Given the description of an element on the screen output the (x, y) to click on. 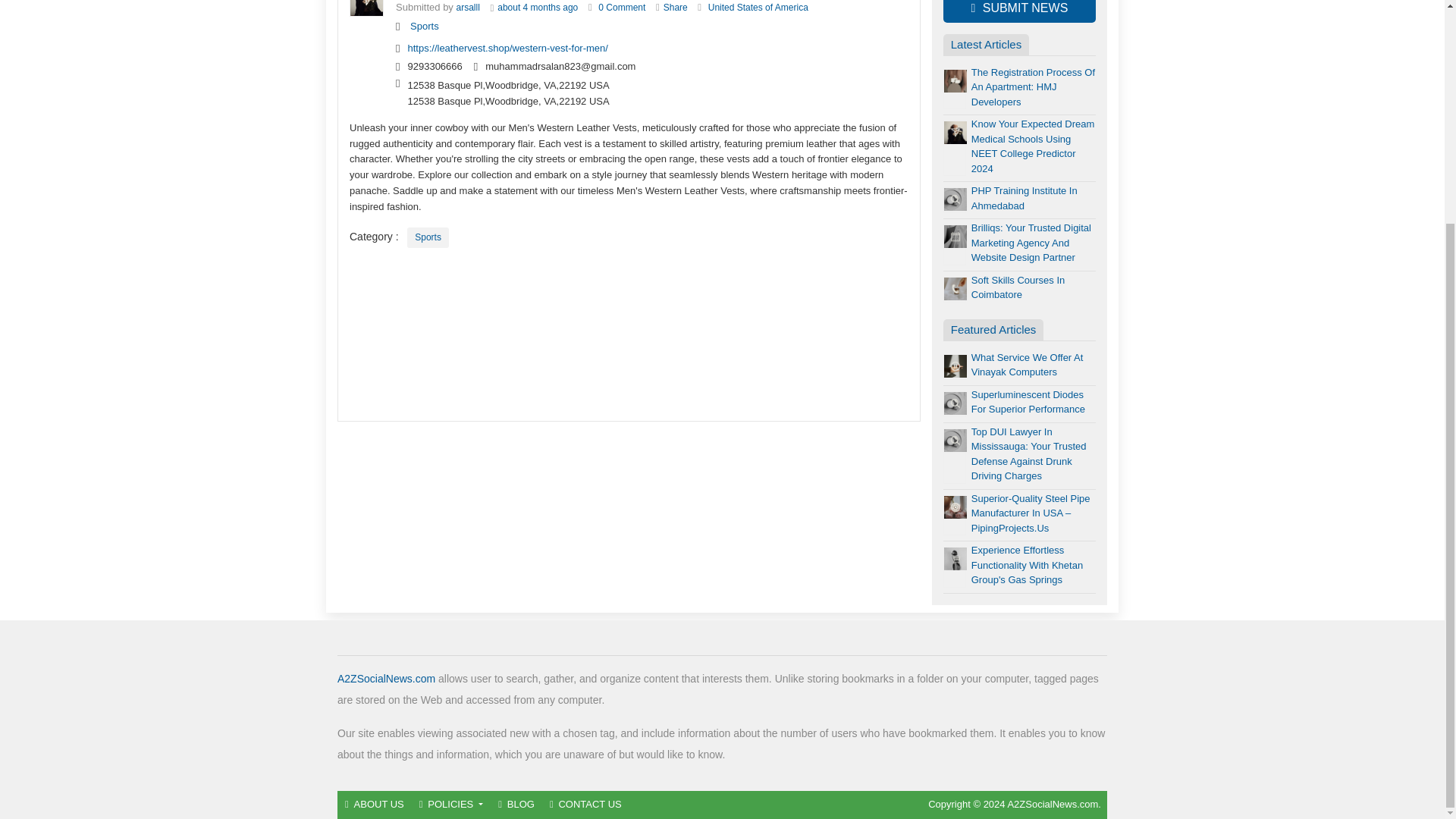
Share (675, 7)
The Registration Process Of An Apartment: HMJ Developers (1032, 86)
Advertisement (628, 335)
about 4 months ago (537, 7)
Sports (424, 25)
SUBMIT NEWS (1019, 11)
Share (675, 7)
arsalll (468, 7)
United States of America (757, 7)
Sports (427, 237)
arsalan33 (468, 7)
United States of America (757, 7)
0 Comment (621, 7)
Sports (424, 25)
